Given the description of an element on the screen output the (x, y) to click on. 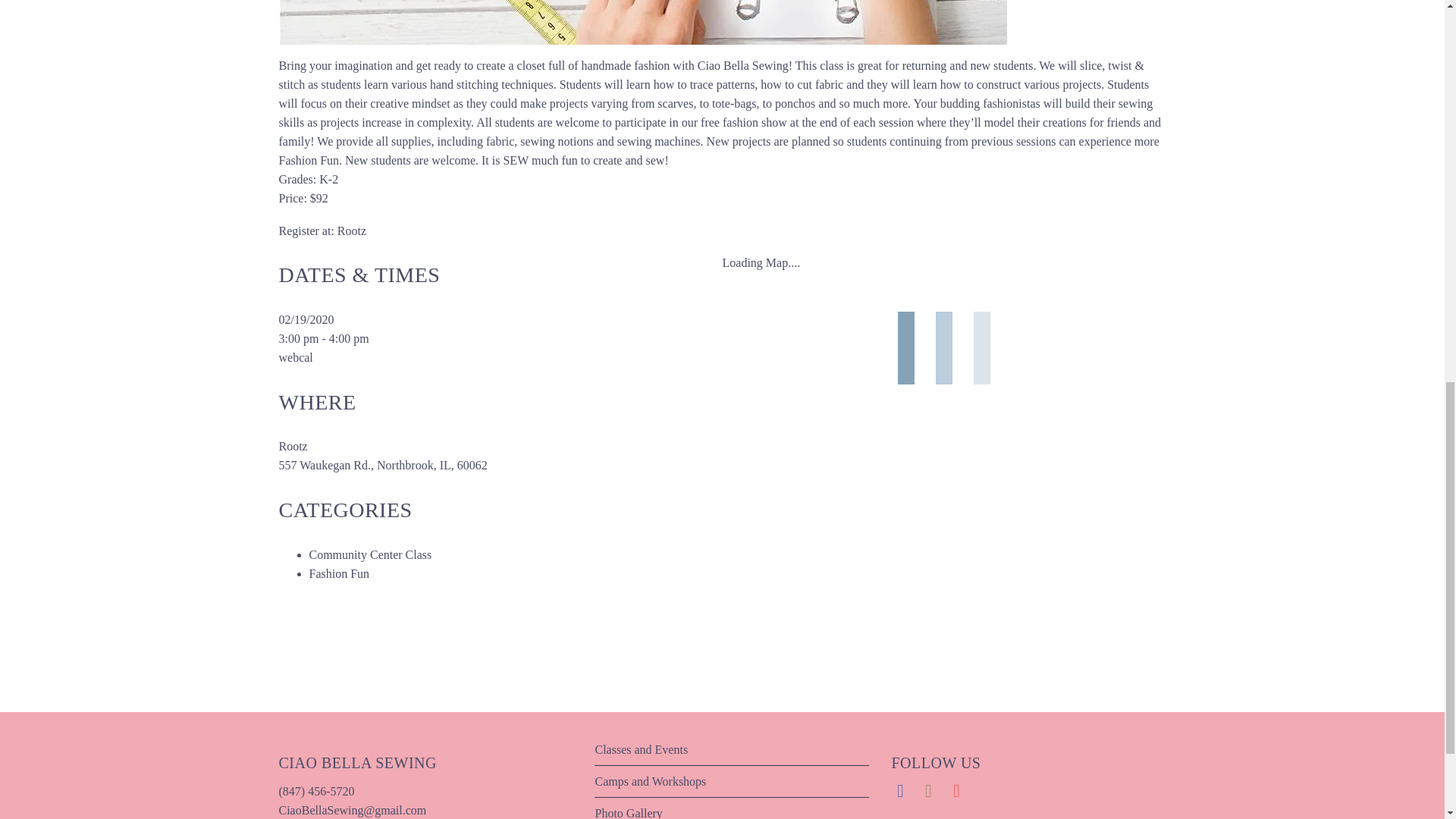
Camps and Workshops (650, 780)
Classes and Events (640, 748)
Fashion Fun (338, 573)
Rootz (293, 445)
Rootz (351, 230)
Community Center Class (370, 554)
webcal (296, 357)
